Given the description of an element on the screen output the (x, y) to click on. 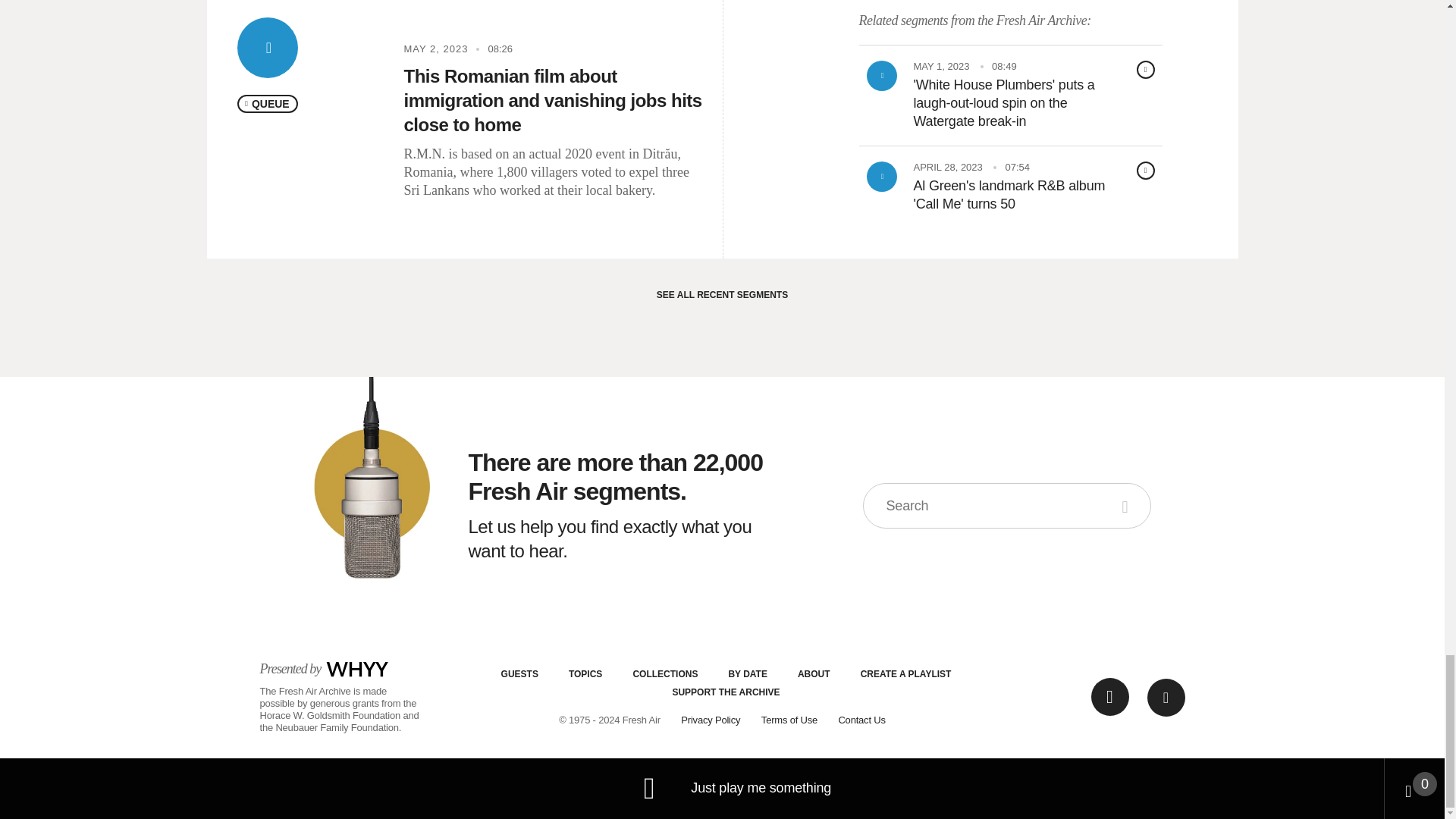
Search (1127, 505)
